Given the description of an element on the screen output the (x, y) to click on. 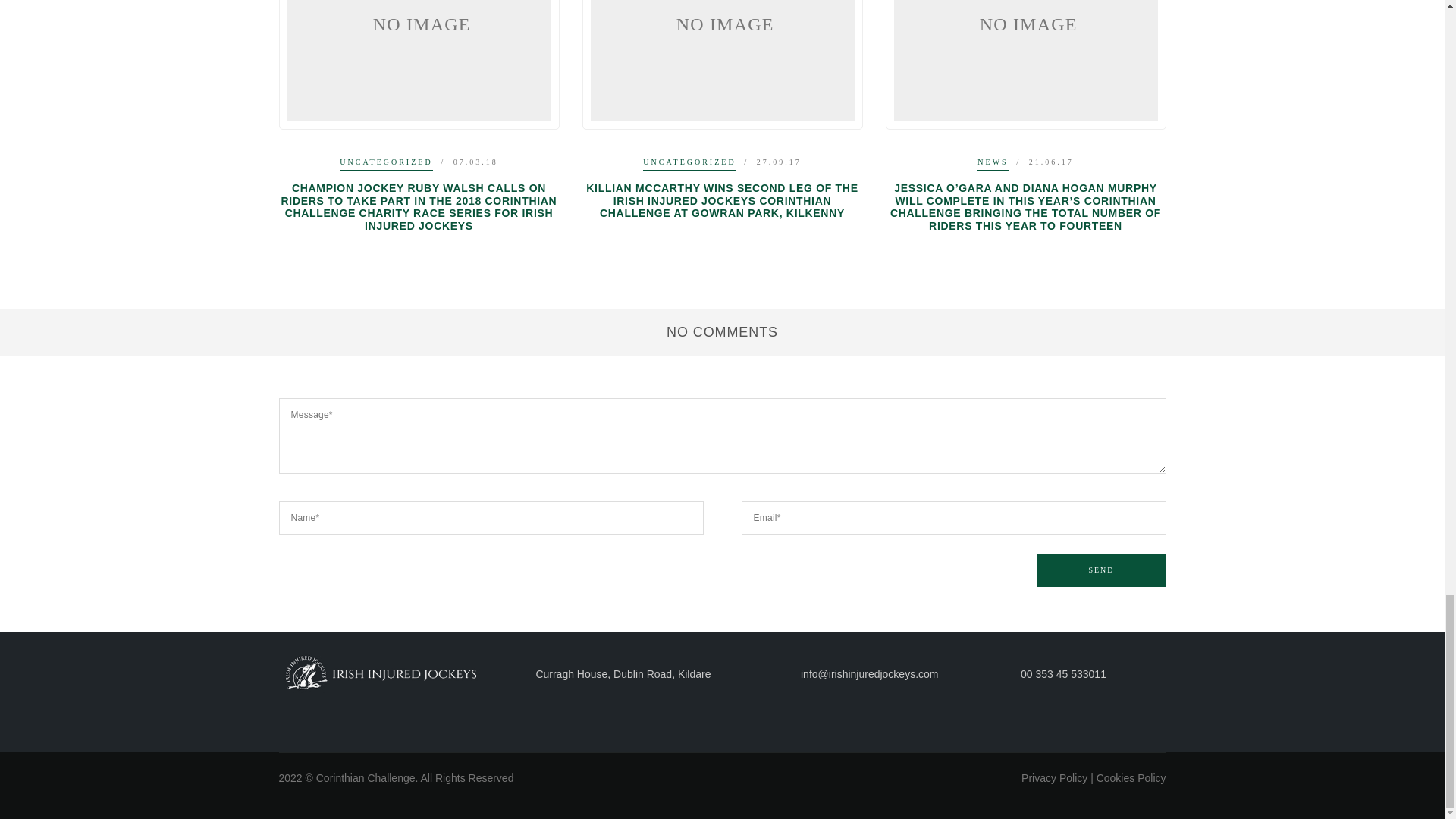
UNCATEGORIZED (385, 164)
07.03.18 (474, 162)
Send (1101, 570)
